Given the description of an element on the screen output the (x, y) to click on. 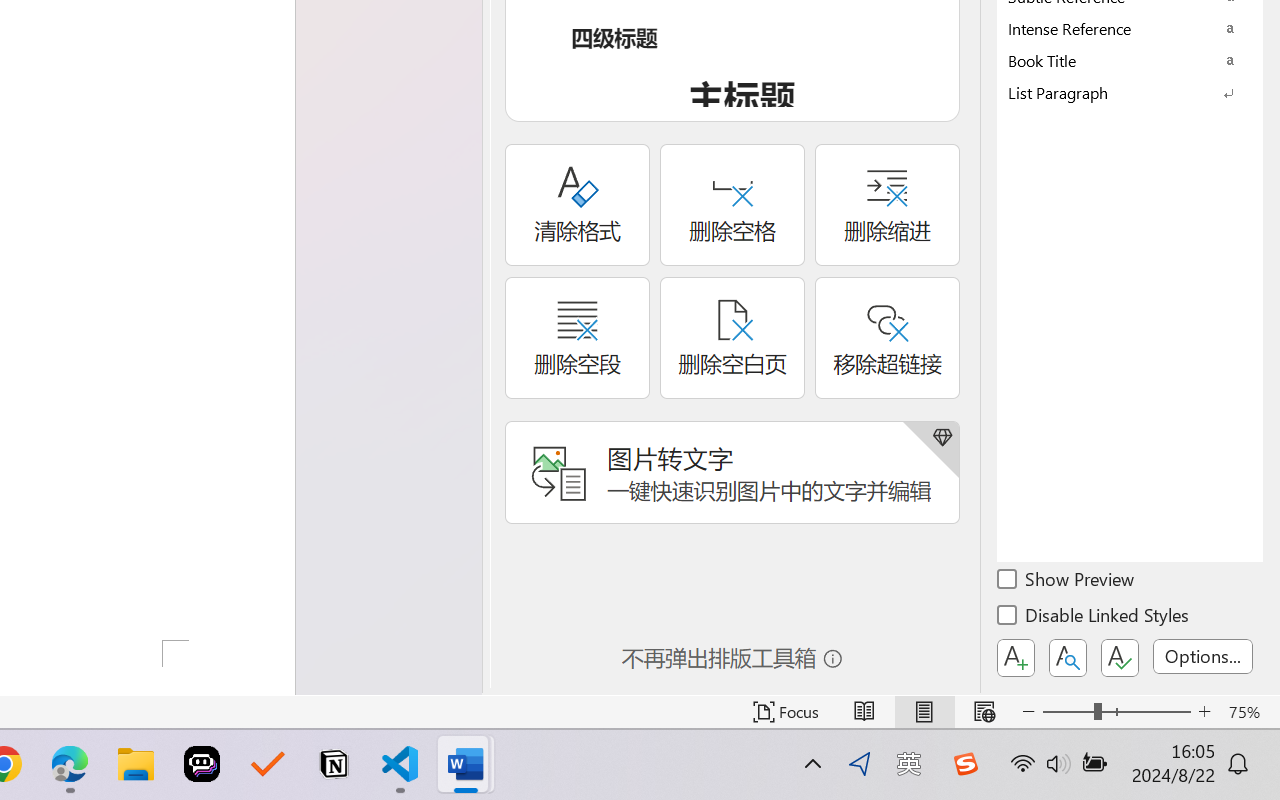
Zoom (1116, 712)
Zoom In (1204, 712)
Options... (1203, 656)
Print Layout (924, 712)
Zoom Out (1067, 712)
Class: NetUIImage (1116, 92)
Disable Linked Styles (1094, 618)
